Given the description of an element on the screen output the (x, y) to click on. 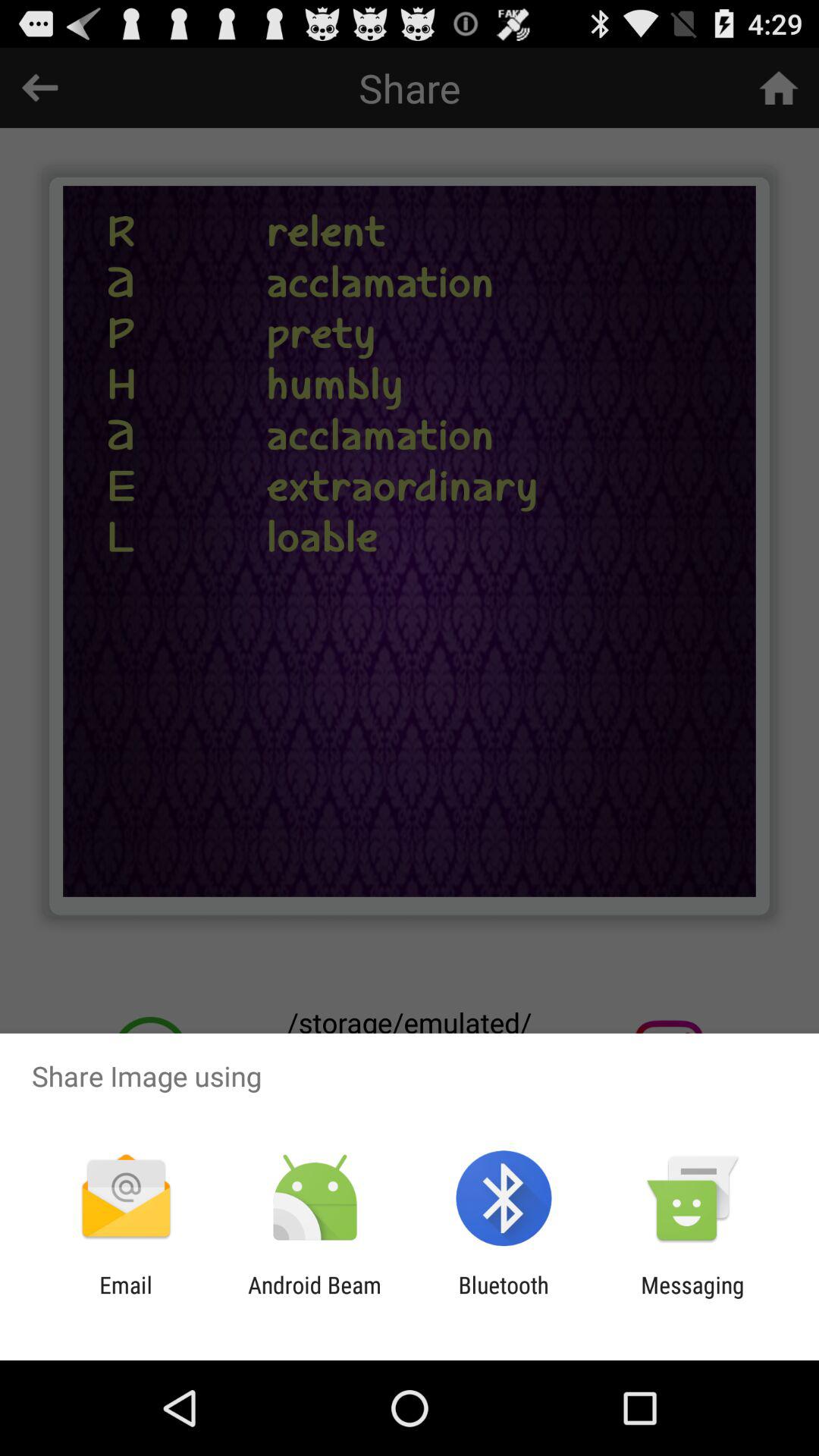
turn on the item to the right of the email item (314, 1298)
